Given the description of an element on the screen output the (x, y) to click on. 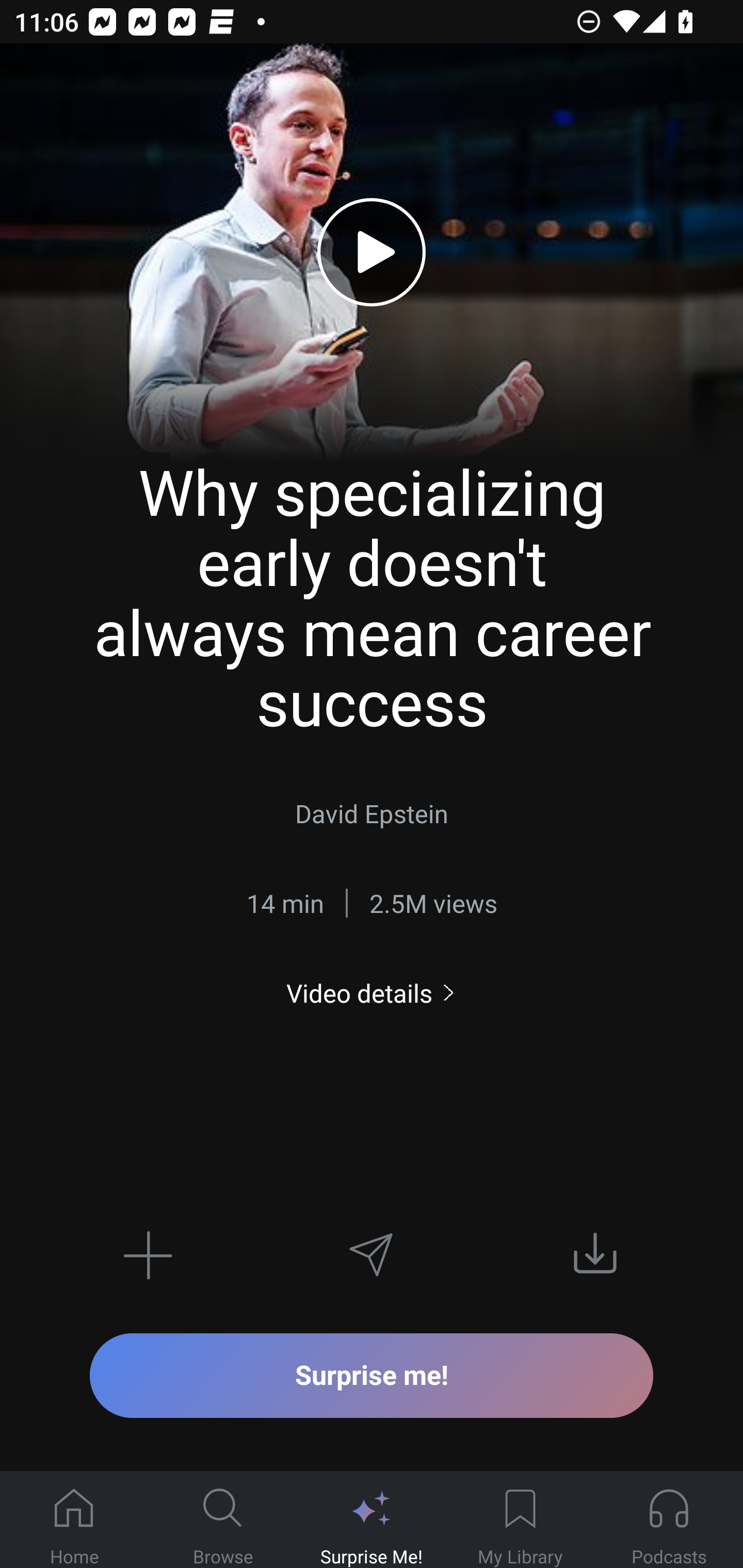
Video details (371, 993)
Surprise me! (371, 1374)
Home (74, 1520)
Browse (222, 1520)
Surprise Me! (371, 1520)
My Library (519, 1520)
Podcasts (668, 1520)
